Given the description of an element on the screen output the (x, y) to click on. 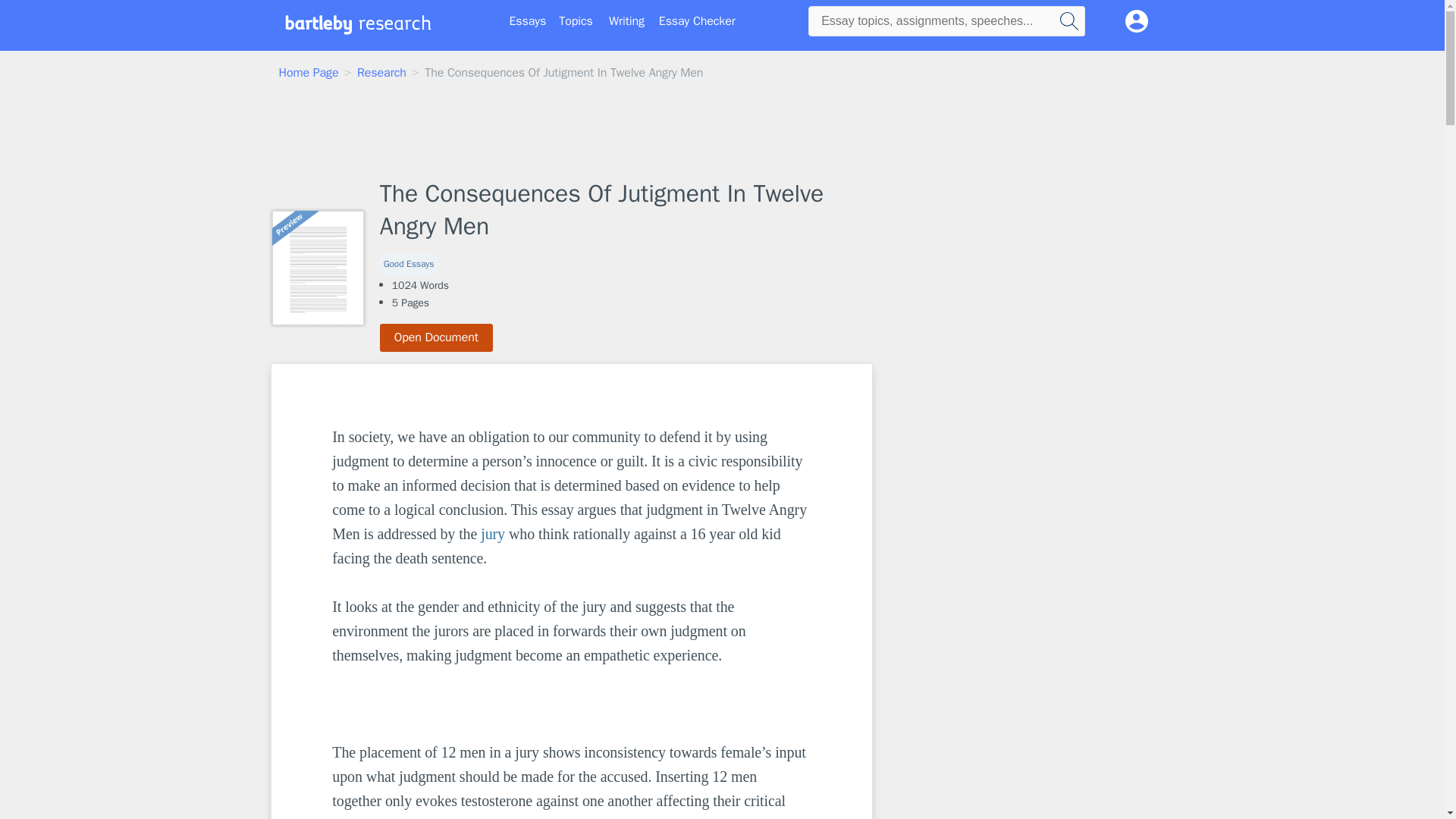
Open Document (436, 337)
Writing (626, 20)
Research (381, 72)
jury (492, 533)
Essay Checker (697, 20)
Topics (575, 20)
Essays (528, 20)
Home Page (309, 72)
